Given the description of an element on the screen output the (x, y) to click on. 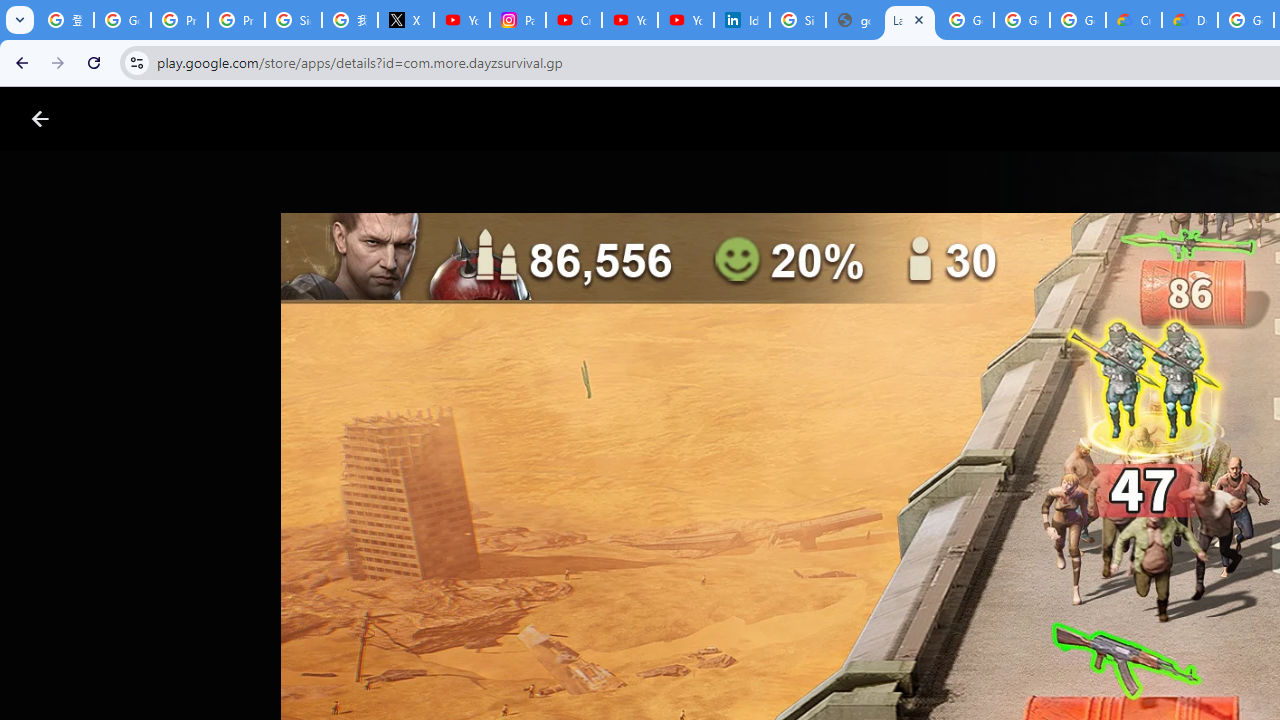
Long Tech Network Limited (734, 602)
YouTube Content Monetization Policies - How YouTube Works (461, 20)
google_privacy_policy_en.pdf (853, 20)
YouTube Culture & Trends - YouTube Top 10, 2021 (685, 20)
Google Play logo (111, 119)
Close screenshot viewer (39, 119)
Apps (321, 119)
X (405, 20)
Google Workspace - Specific Terms (1077, 20)
Customer Care | Google Cloud (1133, 20)
